Given the description of an element on the screen output the (x, y) to click on. 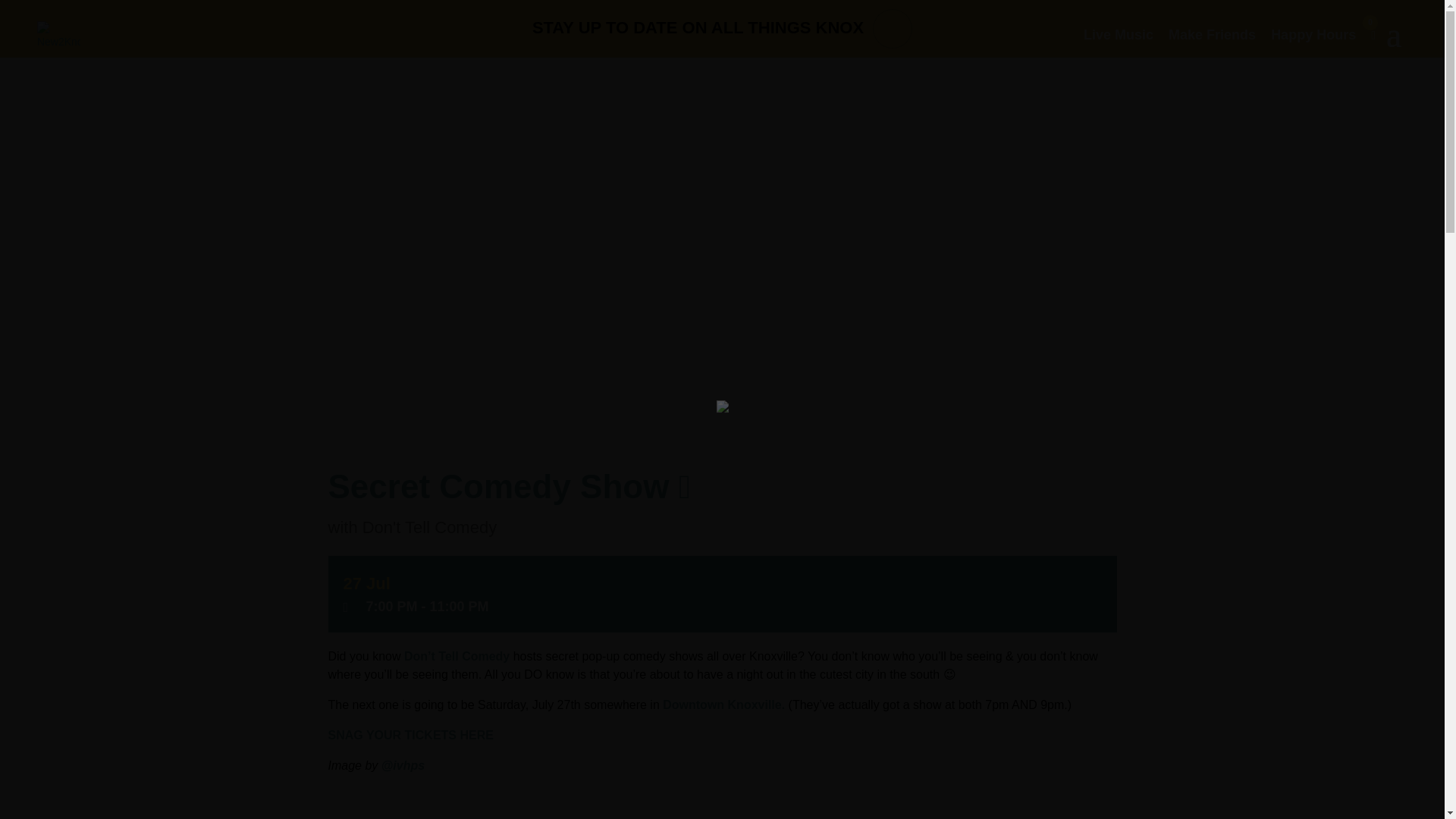
Live Music (1118, 34)
Make Friends (1212, 34)
Downtown Knoxville. (721, 704)
SNAG YOUR TICKETS HERE (410, 735)
Happy Hours (1313, 34)
